Given the description of an element on the screen output the (x, y) to click on. 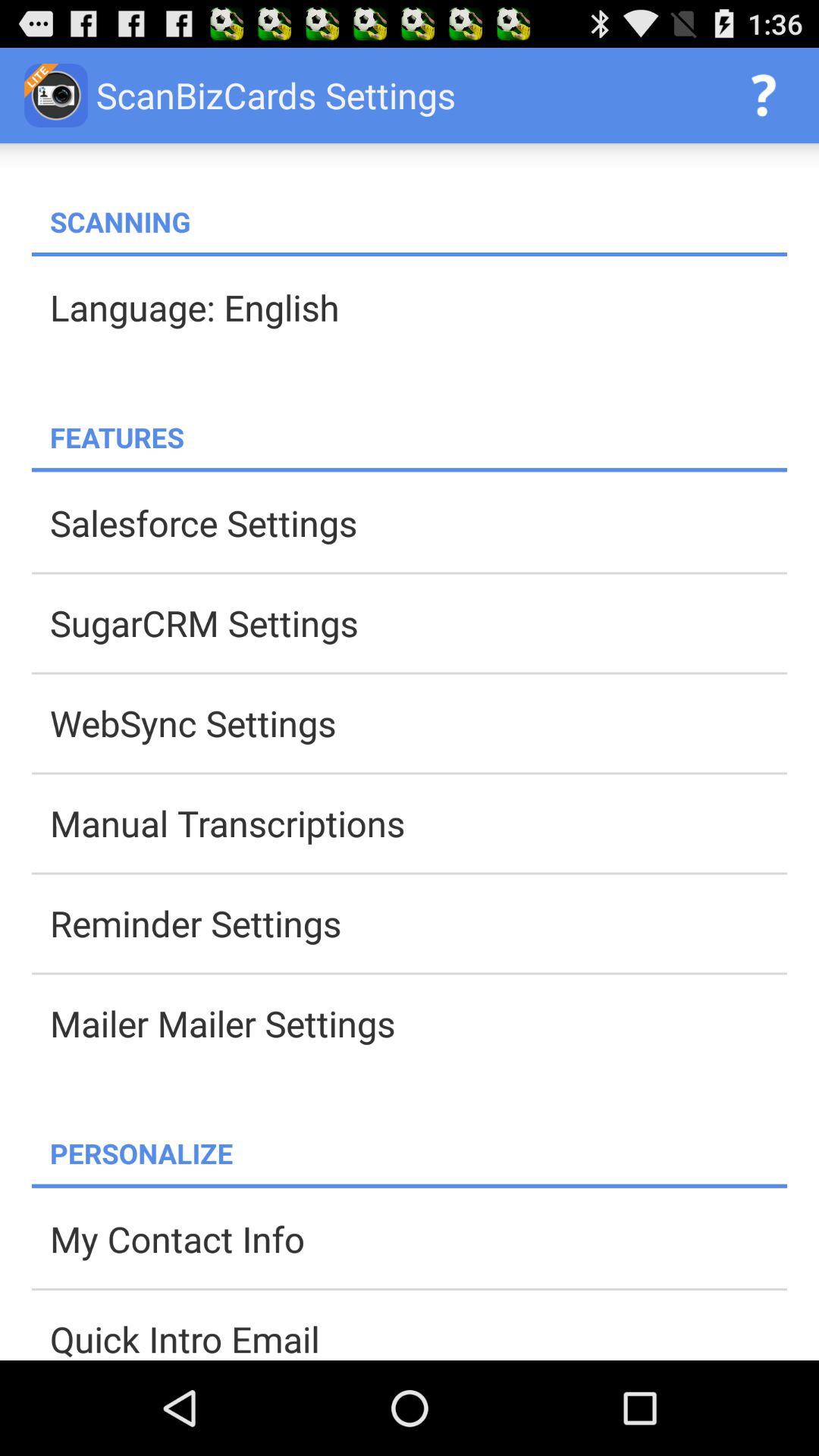
launch the icon below manual transcriptions icon (418, 923)
